Given the description of an element on the screen output the (x, y) to click on. 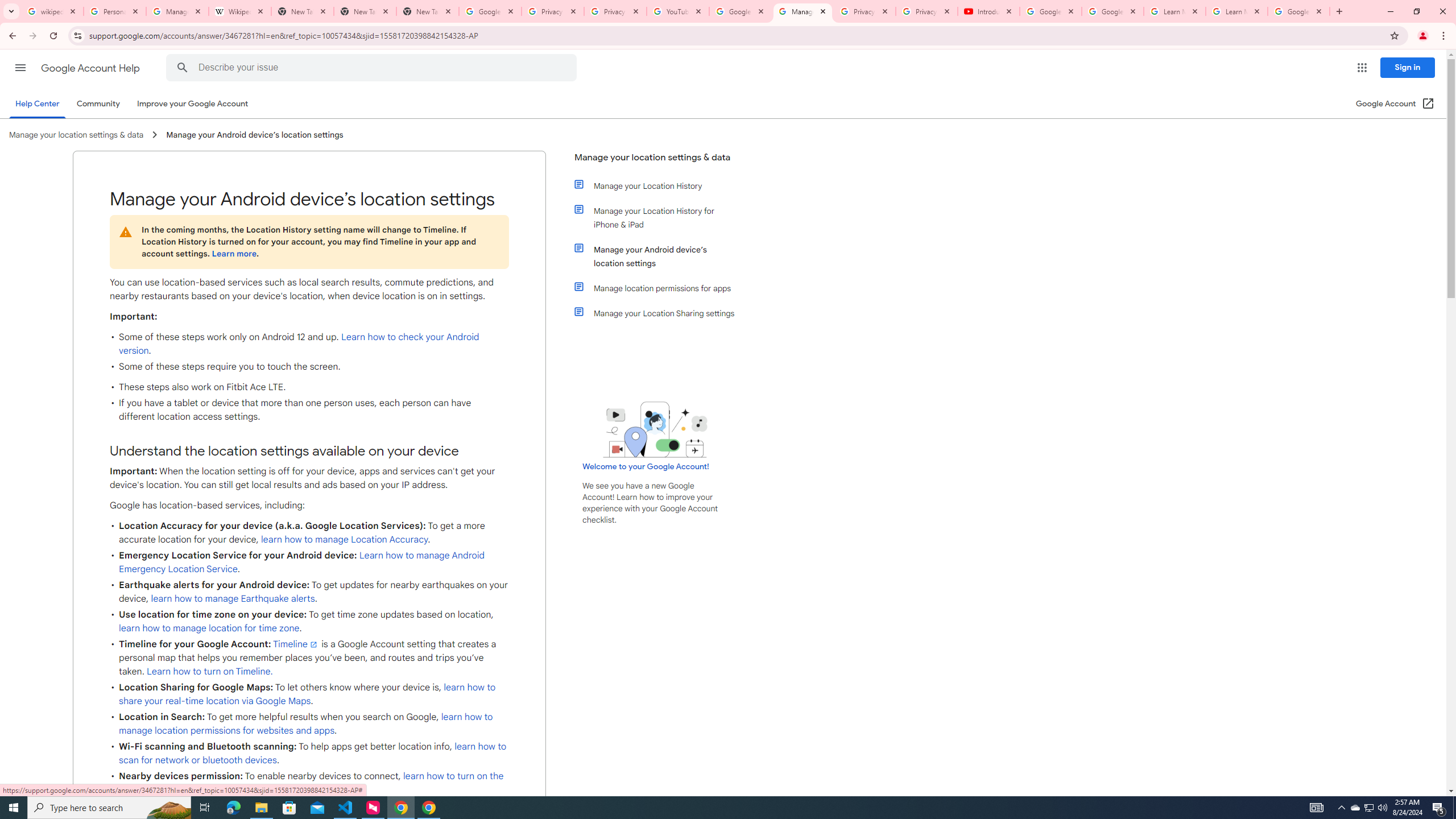
Help Center (36, 103)
Timeline (295, 644)
Manage location permissions for apps (661, 288)
learn how to manage Location Accuracy (344, 539)
Community (97, 103)
learn how to scan for network or bluetooth devices (312, 753)
learn how to manage Earthquake alerts (232, 598)
